Given the description of an element on the screen output the (x, y) to click on. 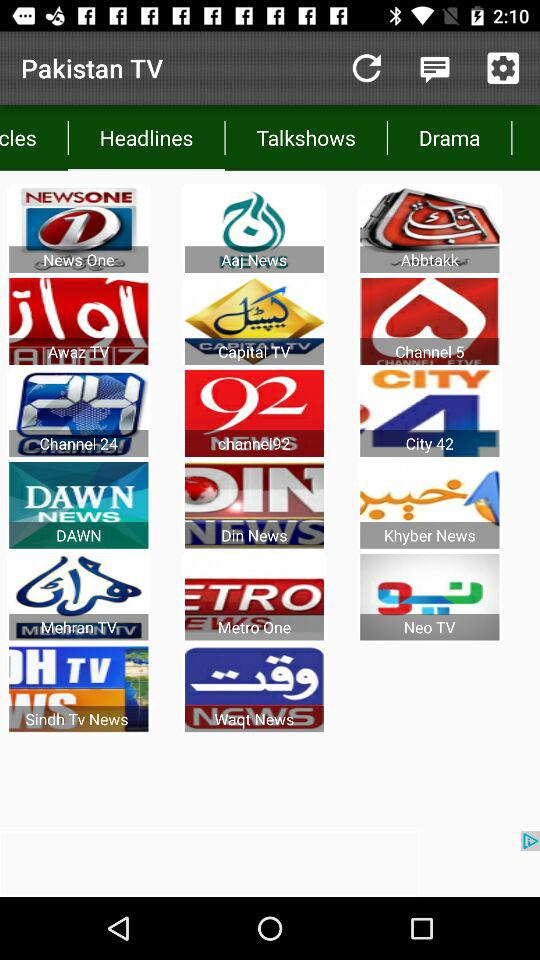
select item to the right of the talkshows item (449, 137)
